Given the description of an element on the screen output the (x, y) to click on. 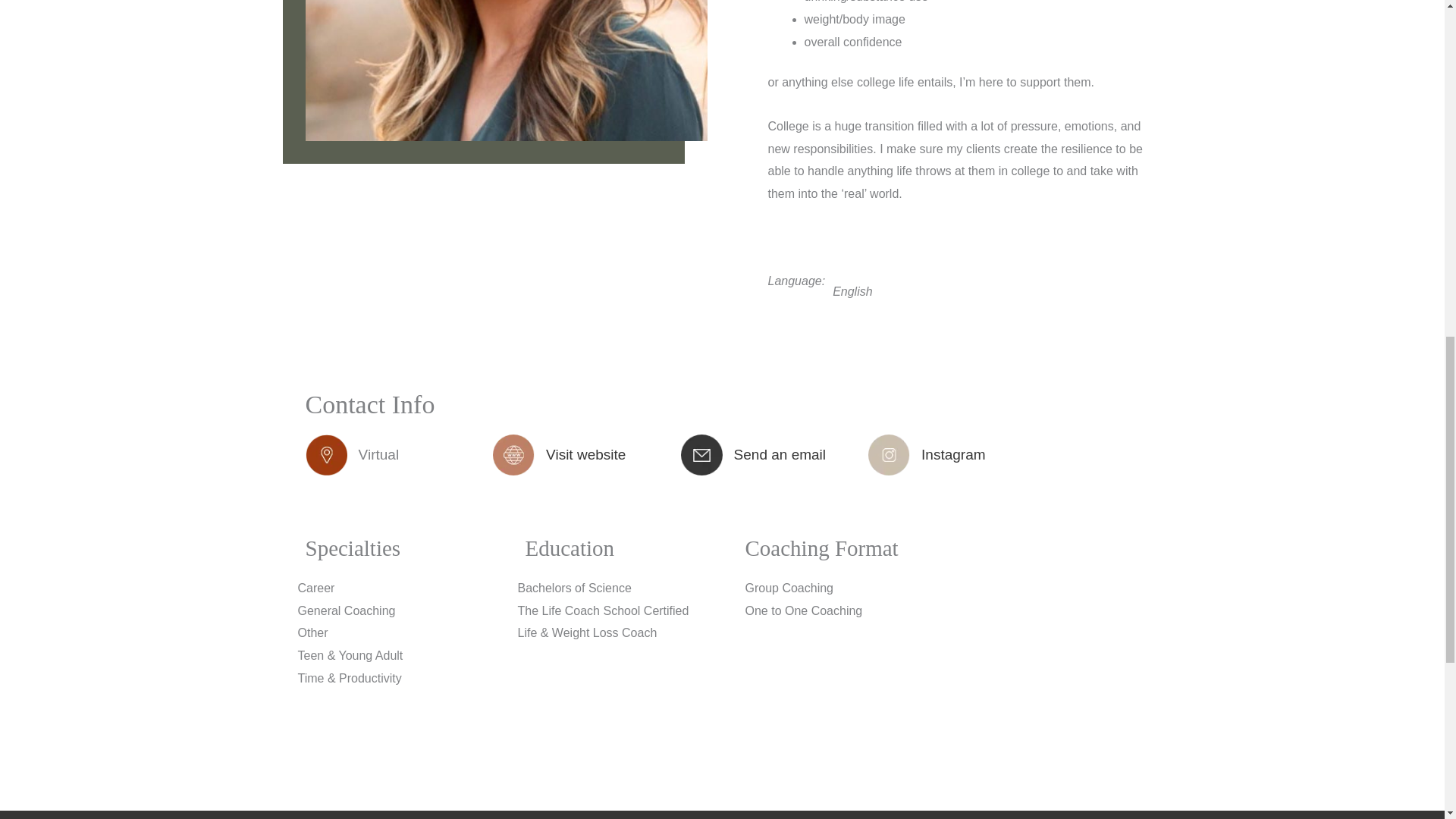
Send an email (779, 454)
Instagram (953, 454)
Visit website (586, 454)
